Given the description of an element on the screen output the (x, y) to click on. 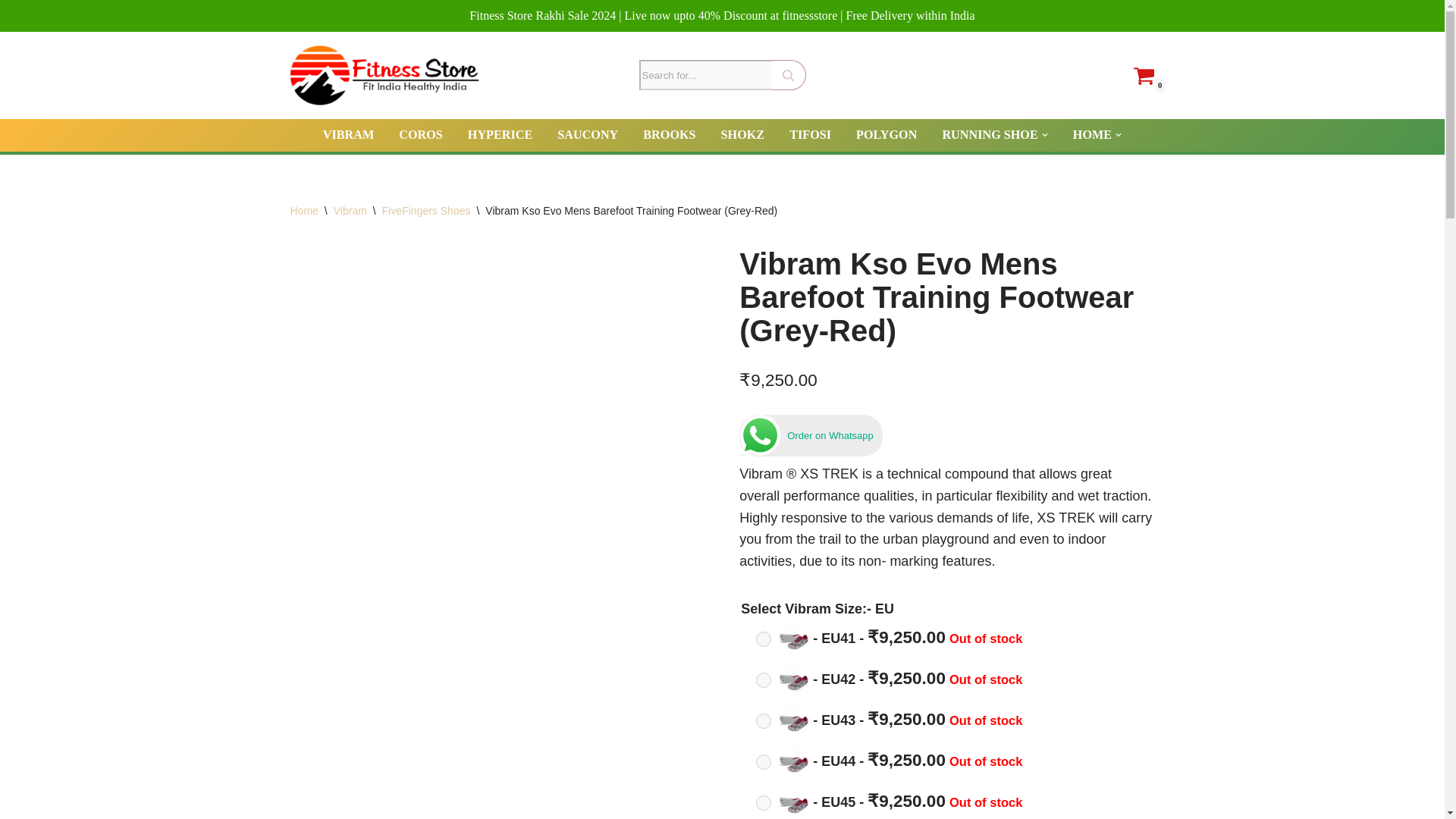
POLYGON (886, 135)
TIFOSI (810, 135)
SHOKZ (742, 135)
EU41 (893, 639)
RUNNING SHOE (989, 135)
EU43 (793, 720)
size-eu-select-size-45 (763, 802)
EU45 (793, 802)
EU44 (893, 761)
size-eu-select-size (763, 639)
